Given the description of an element on the screen output the (x, y) to click on. 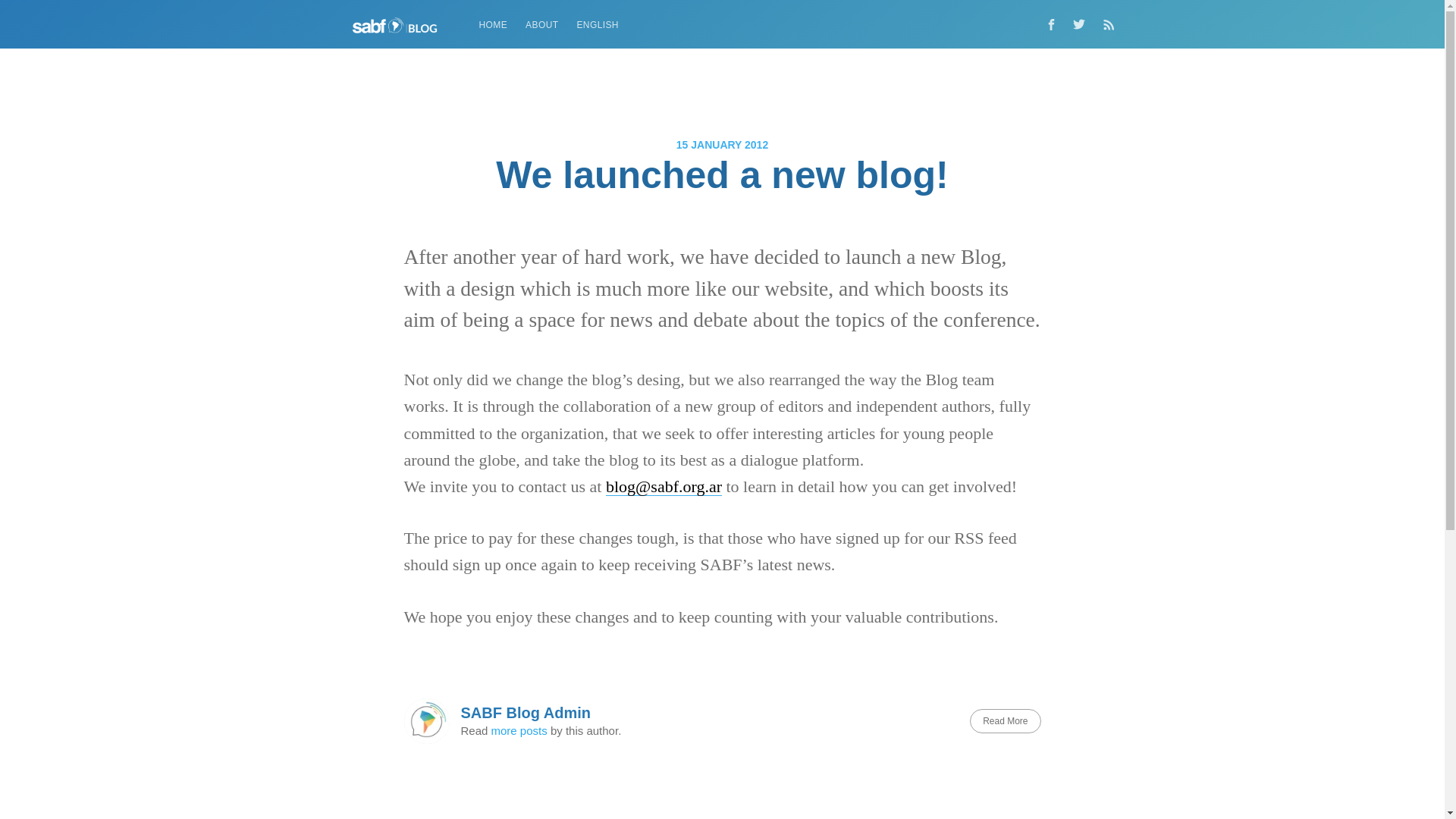
ABOUT (541, 25)
SABF Blog Admin (526, 712)
Read More (1005, 721)
ENGLISH (597, 25)
Facebook (1050, 23)
Twitter (1082, 23)
more posts (519, 730)
HOME (493, 25)
